Given the description of an element on the screen output the (x, y) to click on. 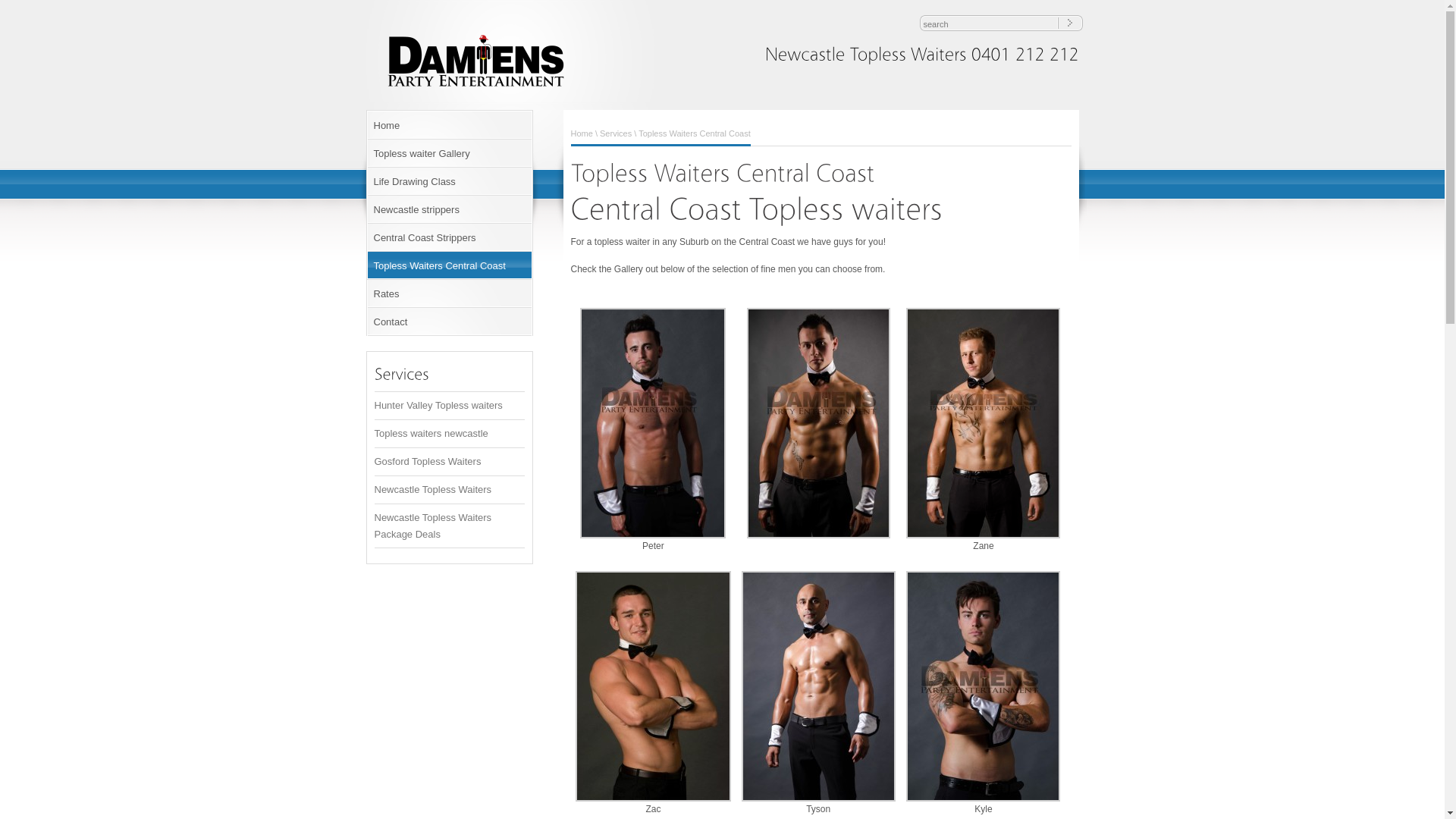
Home Element type: text (581, 133)
Home Element type: text (448, 125)
Central Coast Strippers Element type: text (448, 237)
Rates Element type: text (448, 293)
Topless waiter Gallery Element type: text (448, 153)
Contact Element type: text (448, 321)
Hunter Valley Topless waiters Element type: text (438, 405)
Newcastle Topless Waiters Element type: text (433, 489)
Services Element type: text (615, 133)
Topless Waiters Central Coast Element type: text (448, 265)
Newcastle strippers Element type: text (448, 209)
Newcastle Topless Waiters Element type: hover (479, 91)
Gosford Topless Waiters Element type: text (427, 461)
Newcastle Topless Waiters Package Deals Element type: text (433, 525)
Life Drawing Class Element type: text (448, 181)
Topless waiters newcastle Element type: text (431, 433)
